Given the description of an element on the screen output the (x, y) to click on. 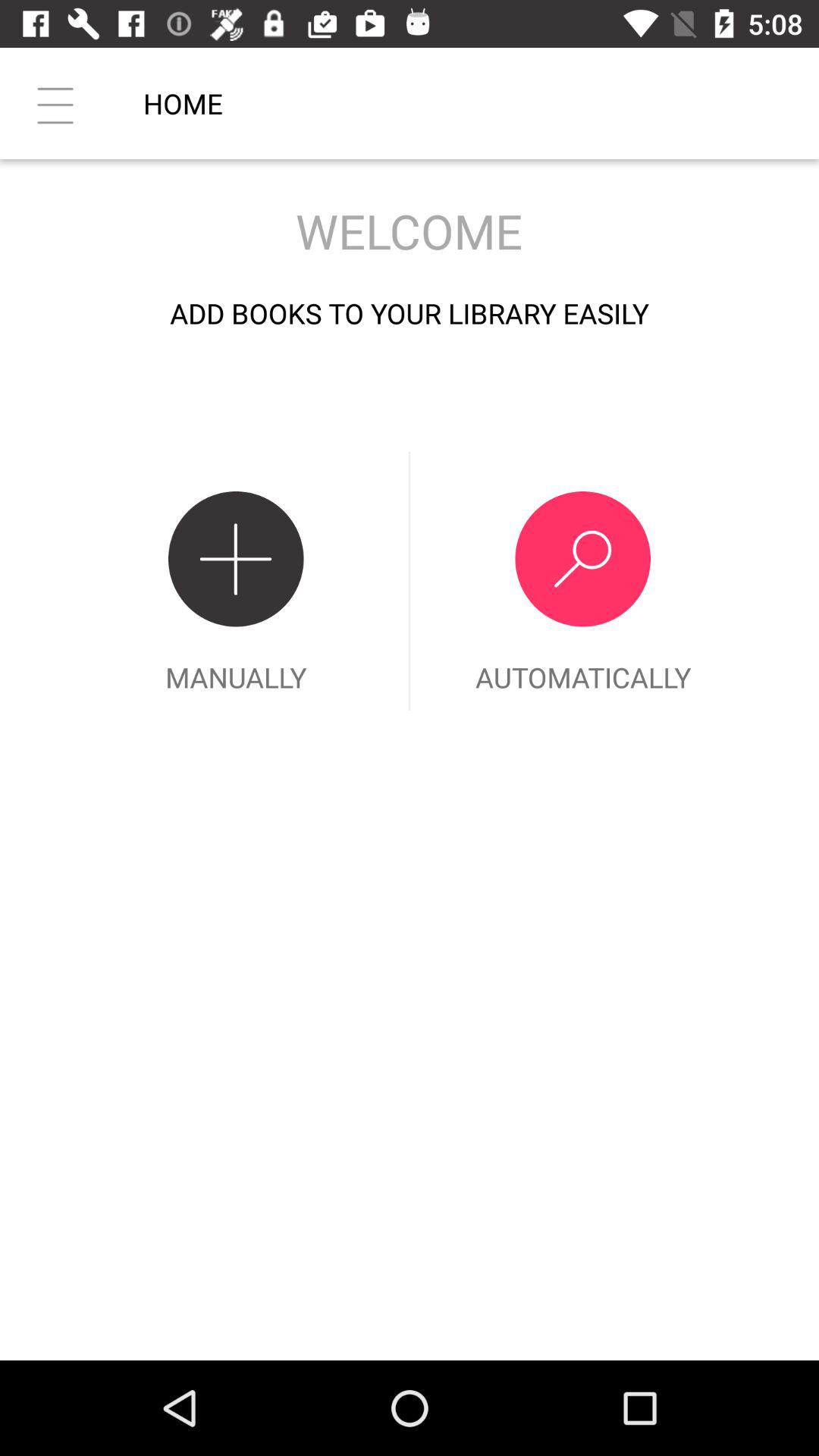
press item on the left (235, 580)
